Given the description of an element on the screen output the (x, y) to click on. 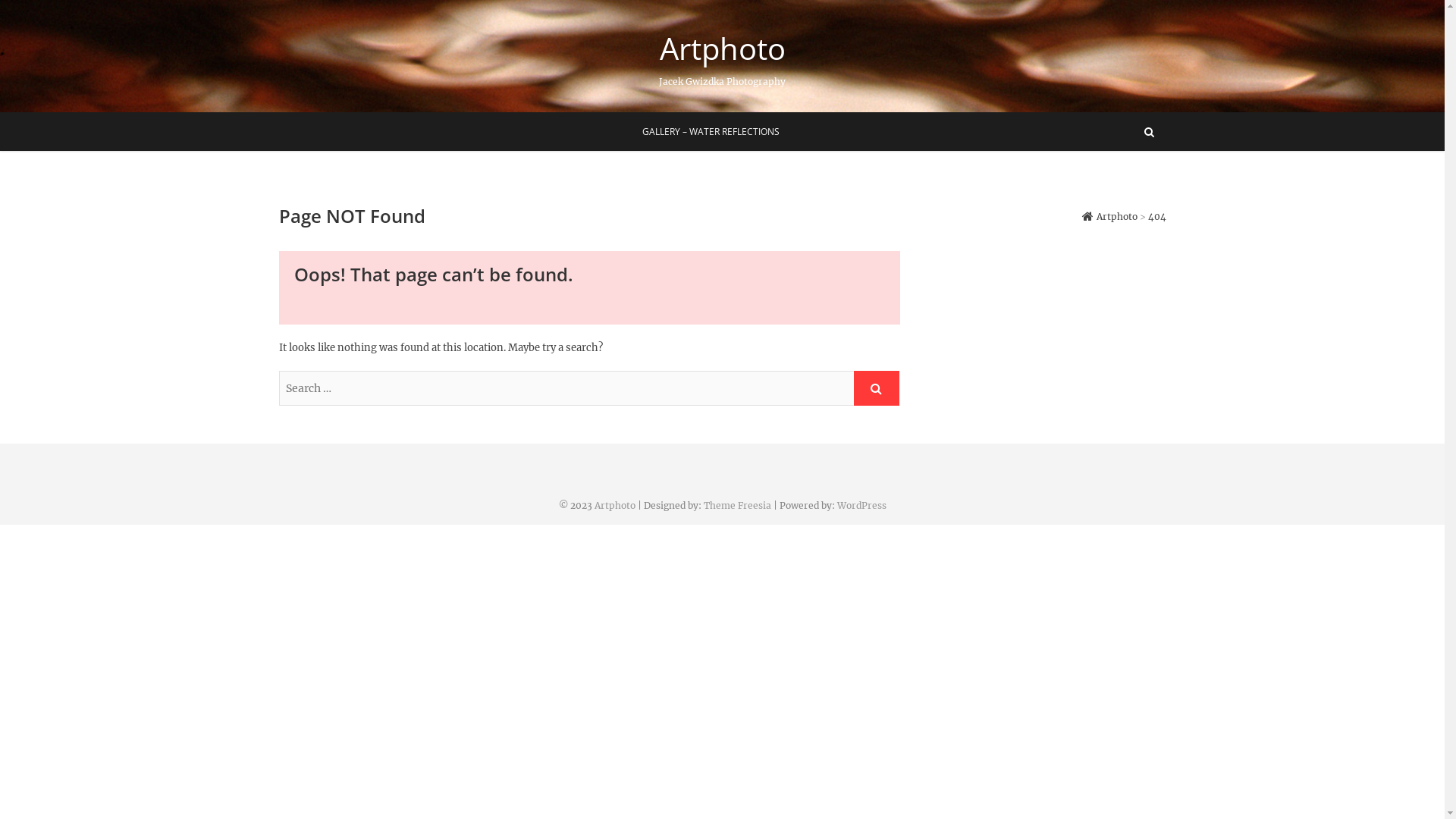
Artphoto Element type: text (1108, 216)
Theme Freesia Element type: text (737, 505)
Artphoto Element type: text (614, 505)
WordPress Element type: text (861, 505)
Artphoto Element type: text (721, 48)
404 Element type: text (1157, 216)
